Given the description of an element on the screen output the (x, y) to click on. 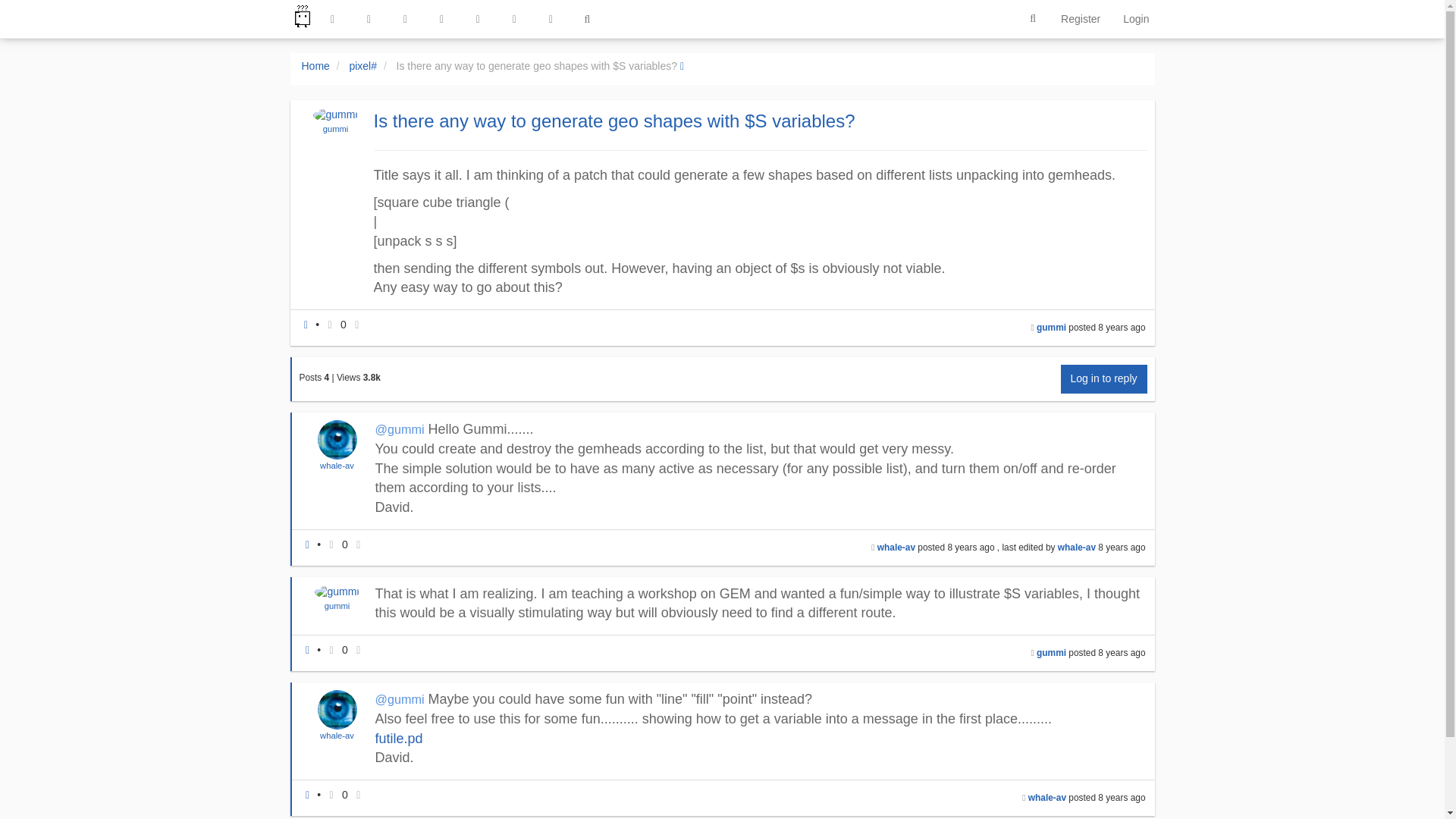
Search (1032, 18)
gummi (1050, 327)
gummi (336, 128)
Register (1080, 18)
Log in to reply (1104, 378)
Home (315, 65)
gummi (335, 128)
Login (1136, 18)
3814 (371, 377)
whale-av (336, 465)
